Given the description of an element on the screen output the (x, y) to click on. 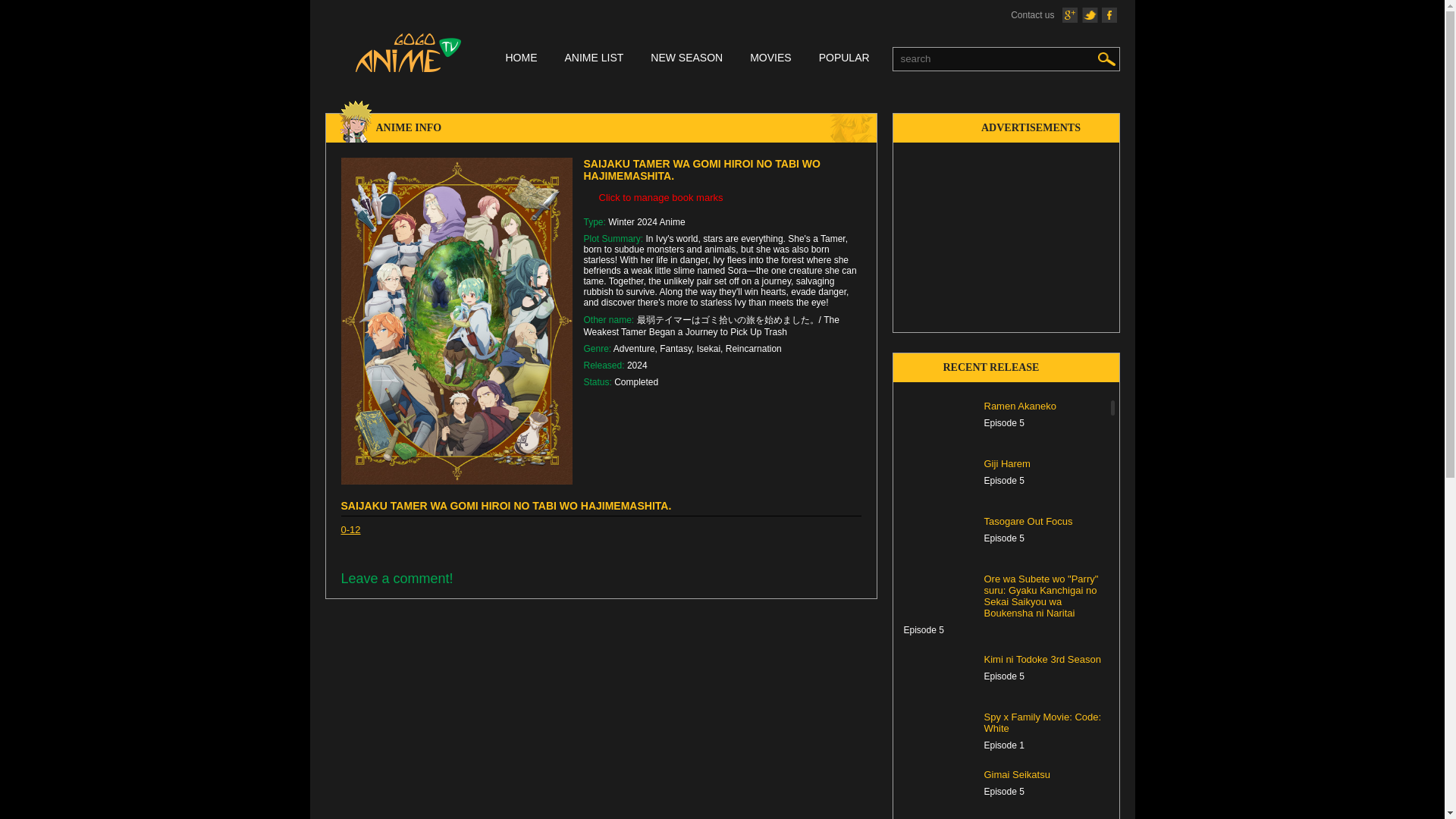
POPULAR (843, 58)
Movies (769, 58)
HOME (521, 58)
MOVIES (769, 58)
Popular (843, 58)
New season (686, 58)
NEW SEASON (686, 58)
Home (521, 58)
Contact us (1032, 14)
Anime list (593, 58)
ANIME LIST (593, 58)
